Given the description of an element on the screen output the (x, y) to click on. 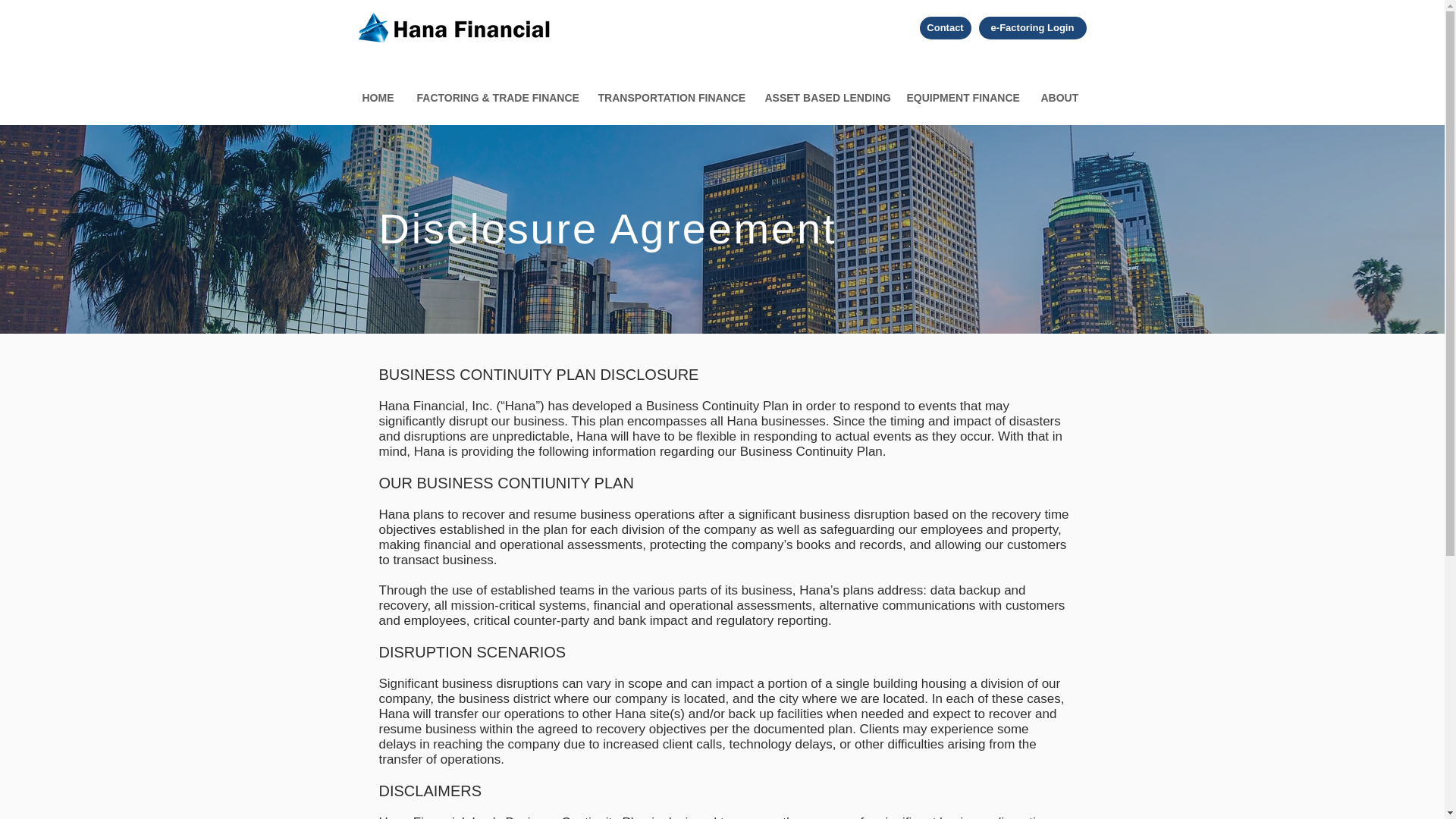
Contact (944, 27)
ASSET BASED LENDING (824, 97)
TRANSPORTATION FINANCE (670, 97)
EQUIPMENT FINANCE (962, 97)
e-Factoring Login (1032, 27)
HOME (377, 97)
